Given the description of an element on the screen output the (x, y) to click on. 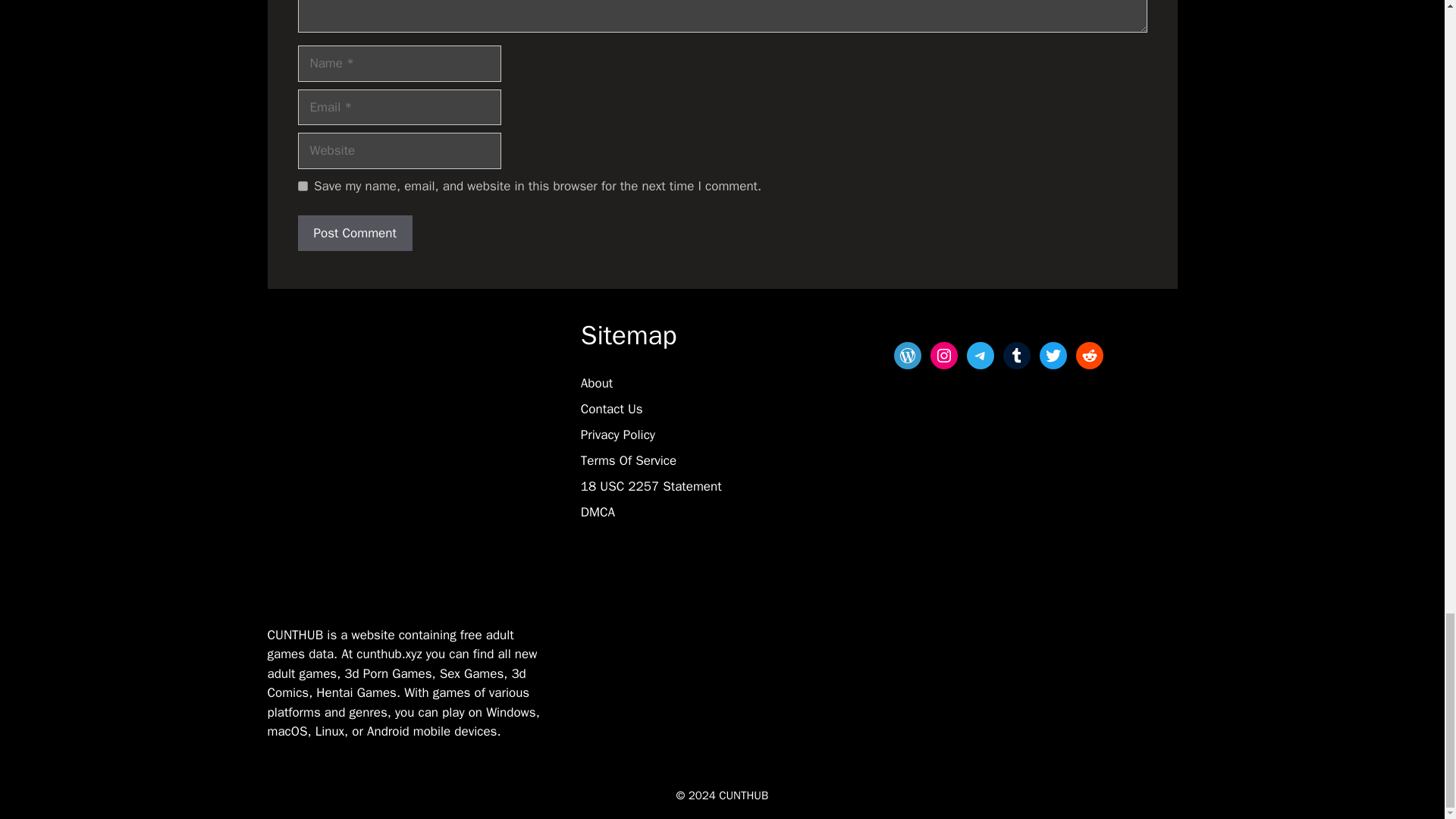
yes (302, 185)
DMCA.com Protection Status (618, 616)
Post Comment (354, 233)
